Given the description of an element on the screen output the (x, y) to click on. 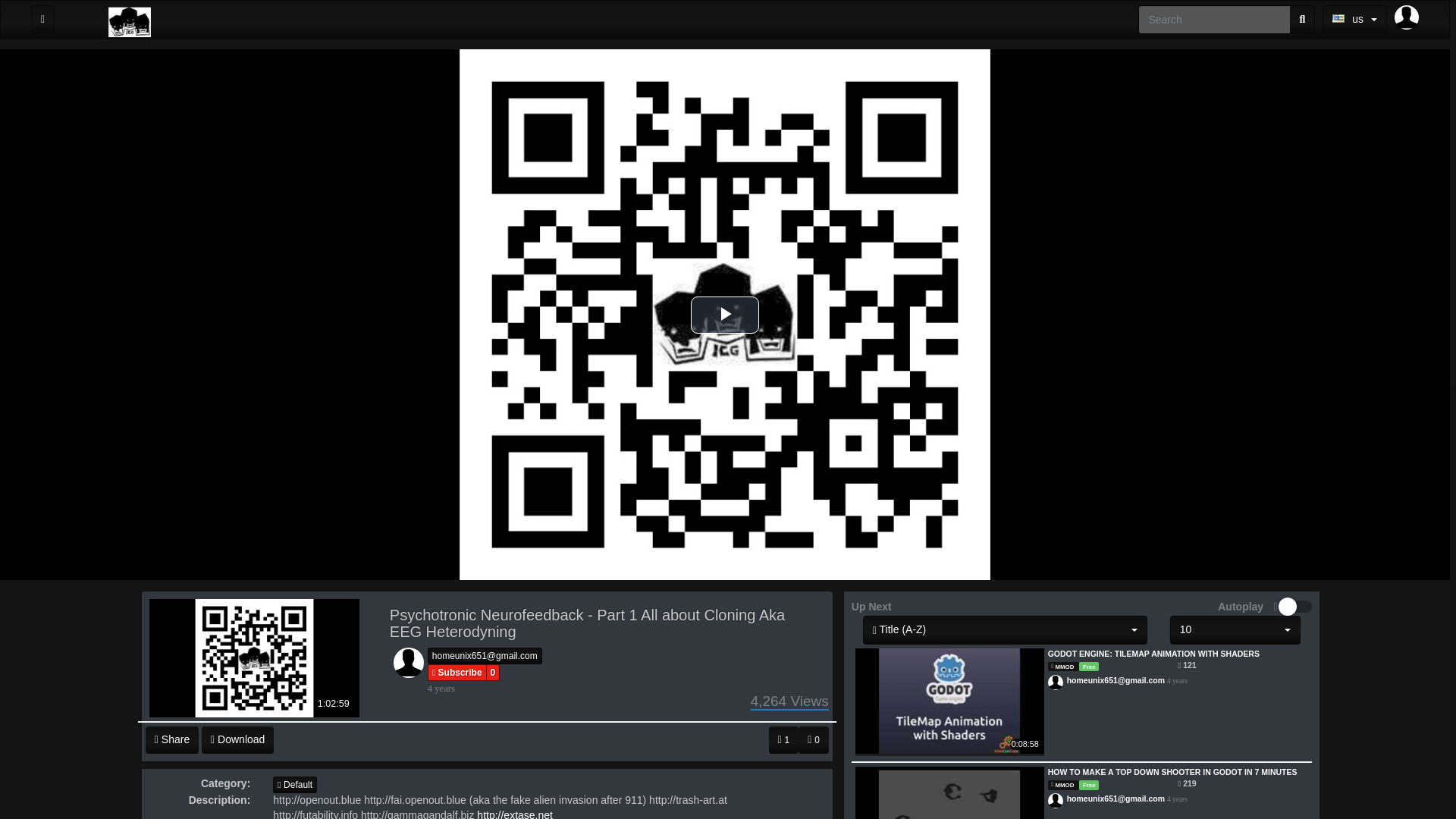
us (1354, 19)
Play Video (724, 314)
